Given the description of an element on the screen output the (x, y) to click on. 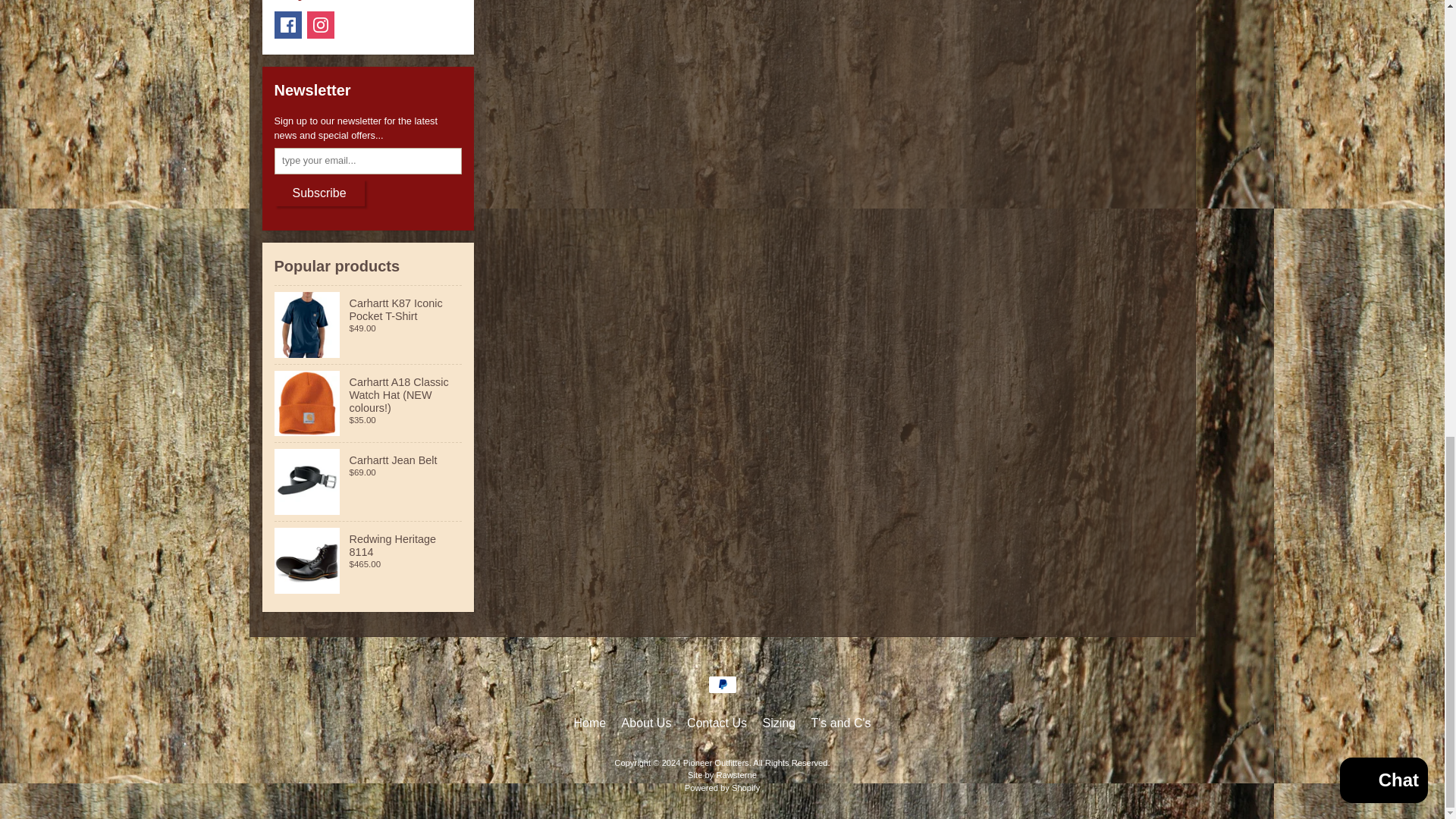
Carhartt K87 Iconic Pocket T-Shirt (369, 324)
Facebook (288, 24)
Carhartt Jean Belt (369, 481)
Redwing Heritage 8114 (369, 560)
Shopify theme by Rawsterne (722, 774)
Instagram (320, 24)
